Given the description of an element on the screen output the (x, y) to click on. 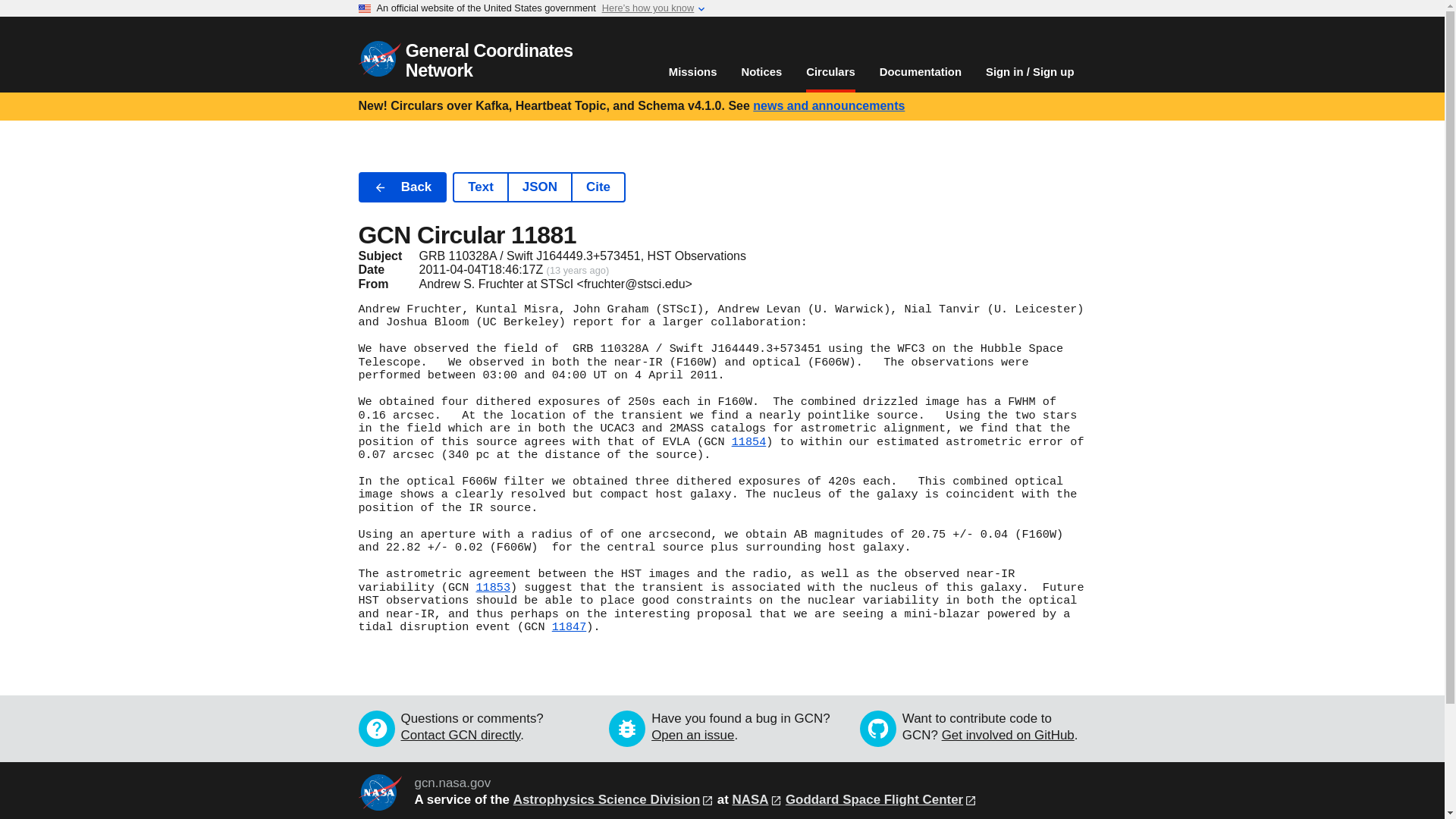
General Coordinates Network (466, 70)
Astrophysics Science Division (613, 799)
news and announcements (828, 105)
Notices (761, 72)
Get involved on GitHub (1008, 735)
Cite (598, 186)
      Back (402, 186)
11847 (568, 626)
Goddard Space Flight Center (881, 799)
NASA (757, 799)
